Given the description of an element on the screen output the (x, y) to click on. 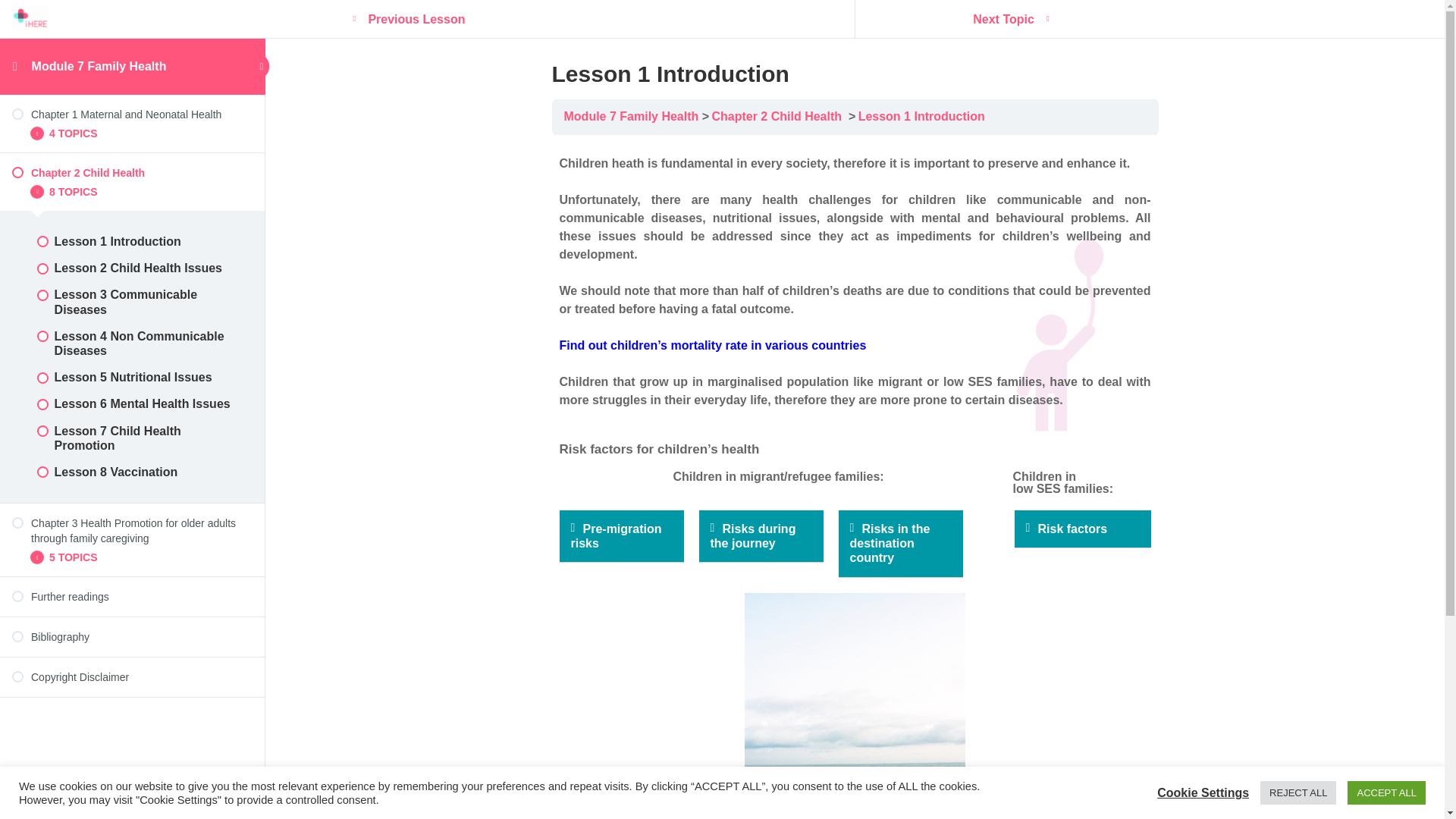
Chapter 2 Child Health  (131, 172)
Lesson 5 Nutritional Issues  (132, 376)
Further readings (131, 596)
Previous Lesson (414, 19)
Bibliography (131, 636)
Lesson 8 Vaccination (132, 471)
Pre-migration risks (615, 535)
Copyright Disclaimer (131, 676)
Lesson 2 Child Health Issues (132, 267)
Risks in the destination country  (889, 543)
Lesson 1 Introduction (922, 115)
Risks during the journey  (752, 535)
Lesson 6 Mental Health Issues (132, 403)
Lesson 7 Child Health Promotion  (132, 436)
